Given the description of an element on the screen output the (x, y) to click on. 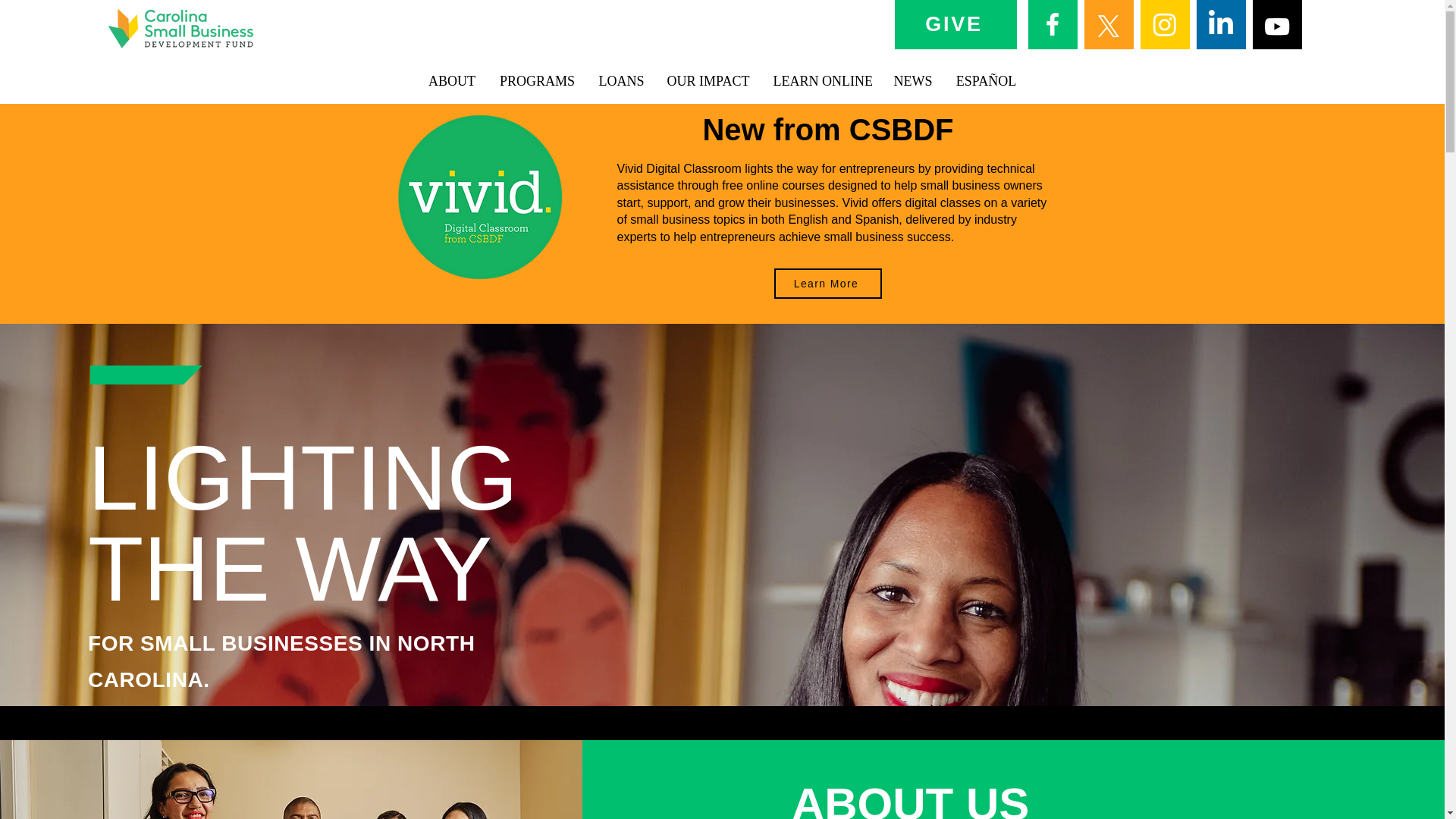
LEARN ONLINE (820, 81)
Learn More (826, 283)
LOANS (619, 81)
ABOUT (451, 81)
NEWS (911, 81)
PROGRAMS (536, 81)
GIVE (955, 24)
OUR IMPACT (708, 81)
